Given the description of an element on the screen output the (x, y) to click on. 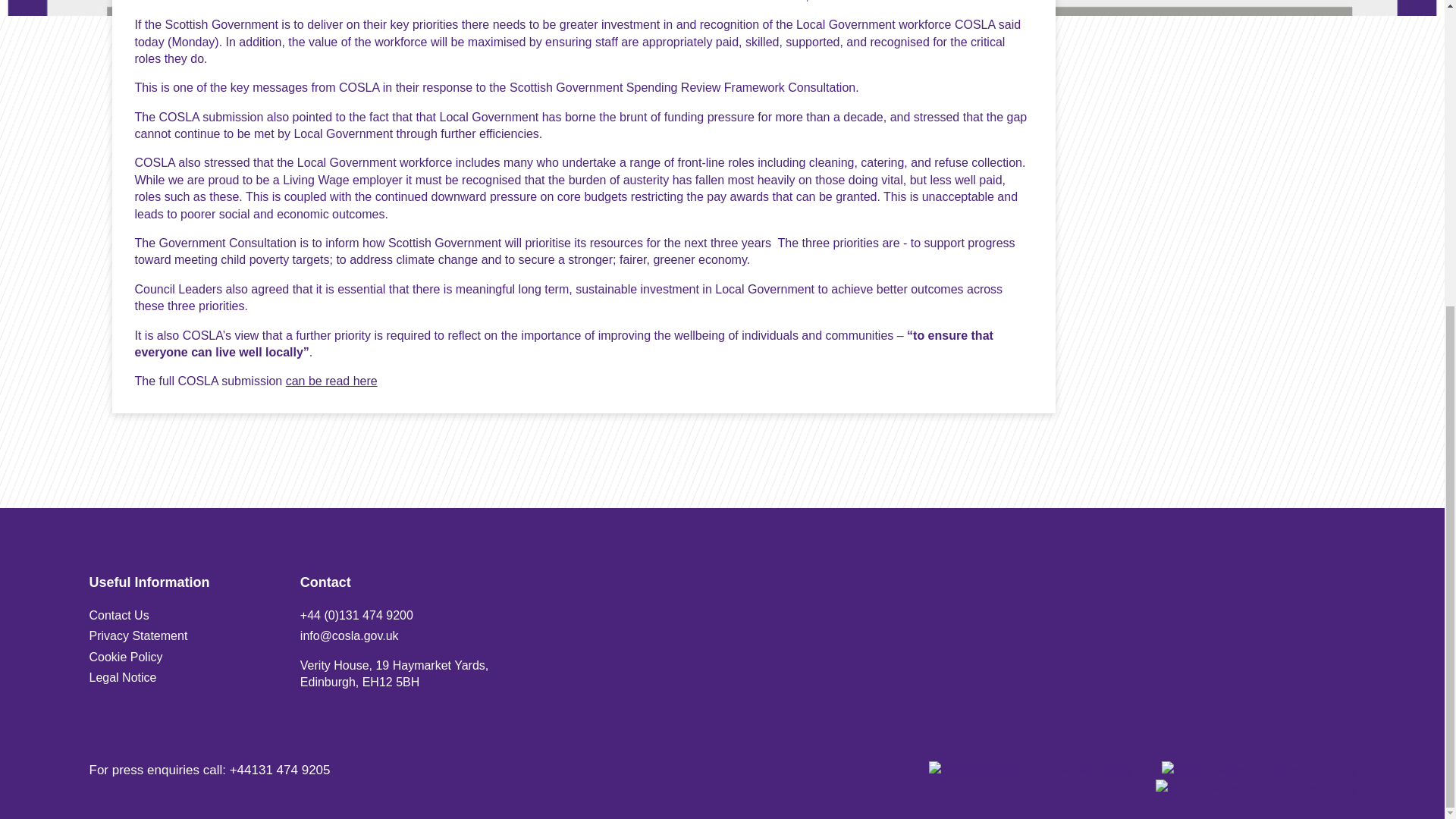
Link to Cookie Policy (125, 656)
Link to Legal Notice (122, 676)
Link to Contact Us (118, 615)
Link to Privacy Statement (137, 635)
Social media icond for facebook.svg Social media icon (1255, 788)
Social media icond for youtube.svg Social media icon (1258, 770)
can be read here (337, 380)
Social media icond for twitter-ico.svg Social media icon (1029, 770)
